Given the description of an element on the screen output the (x, y) to click on. 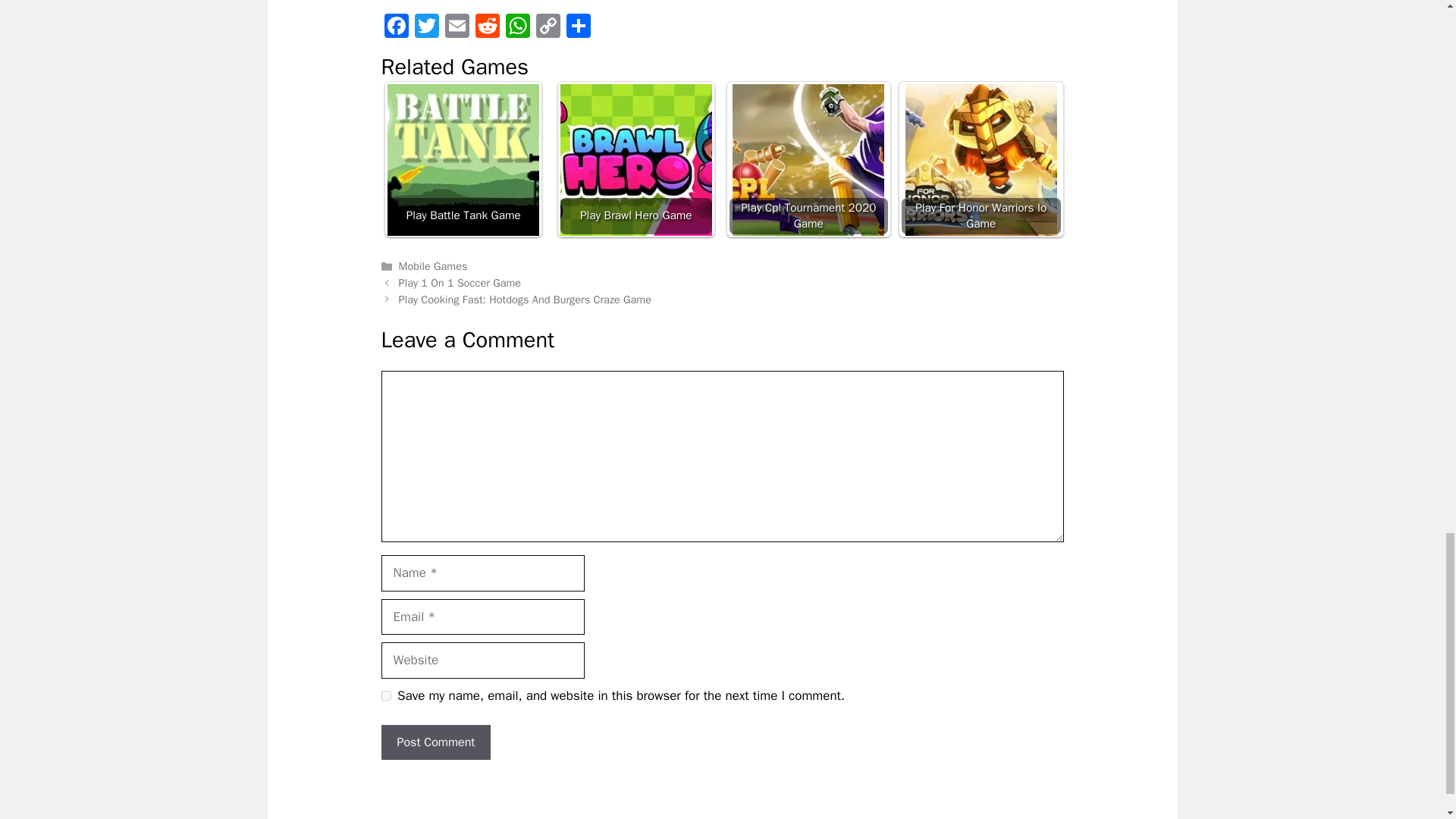
Post Comment (435, 742)
yes (385, 696)
Play For Honor Warriors Io Game (980, 158)
Email (456, 27)
Copy Link (547, 27)
Post Comment (435, 742)
Play Brawl Hero Game (635, 158)
Twitter (425, 27)
Play Battle Tank Game (462, 159)
Play 1 On 1 Soccer Game (459, 282)
